Given the description of an element on the screen output the (x, y) to click on. 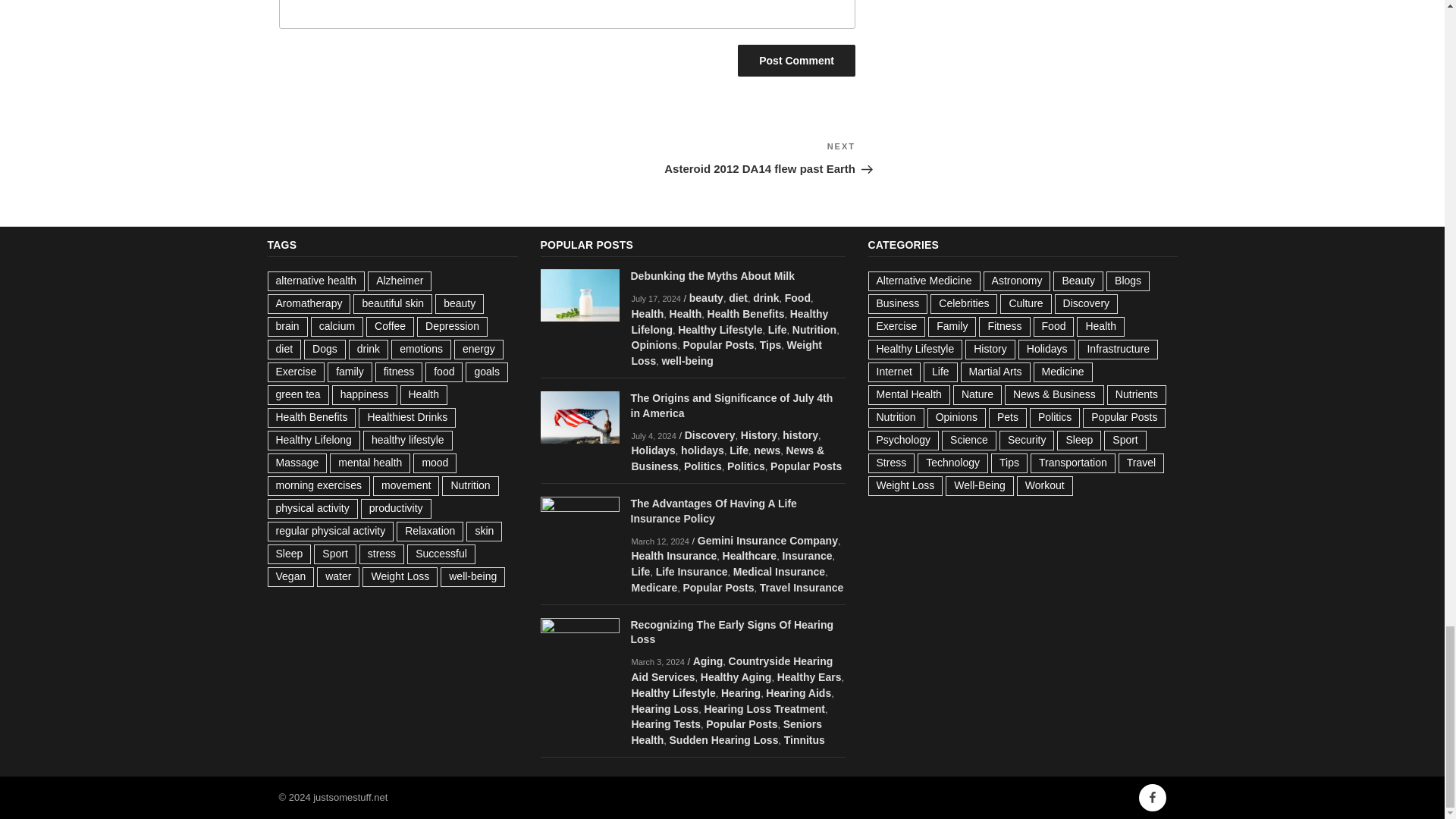
Post Comment (797, 60)
Post Comment (797, 60)
